Given the description of an element on the screen output the (x, y) to click on. 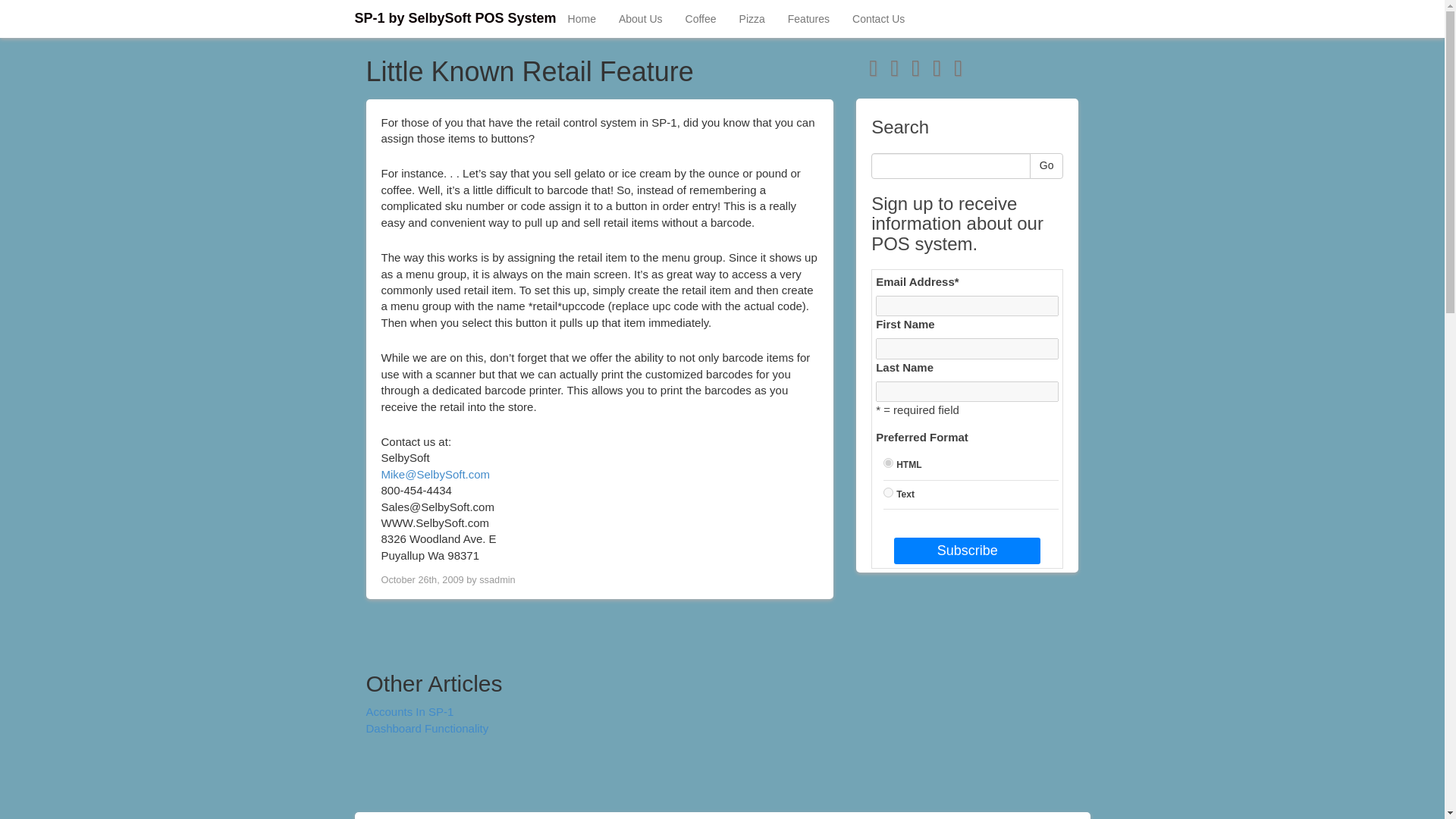
text (888, 491)
Home (581, 18)
Contact Us (878, 18)
ssadmin (497, 579)
About Us (640, 18)
Posts by ssadmin (497, 579)
Contact Us (878, 18)
Features (808, 18)
Home (581, 18)
Features (808, 18)
Accounts In SP-1 (408, 711)
Dashboard Functionality (426, 727)
Subscribe (967, 550)
html (888, 462)
About Us (640, 18)
